Given the description of an element on the screen output the (x, y) to click on. 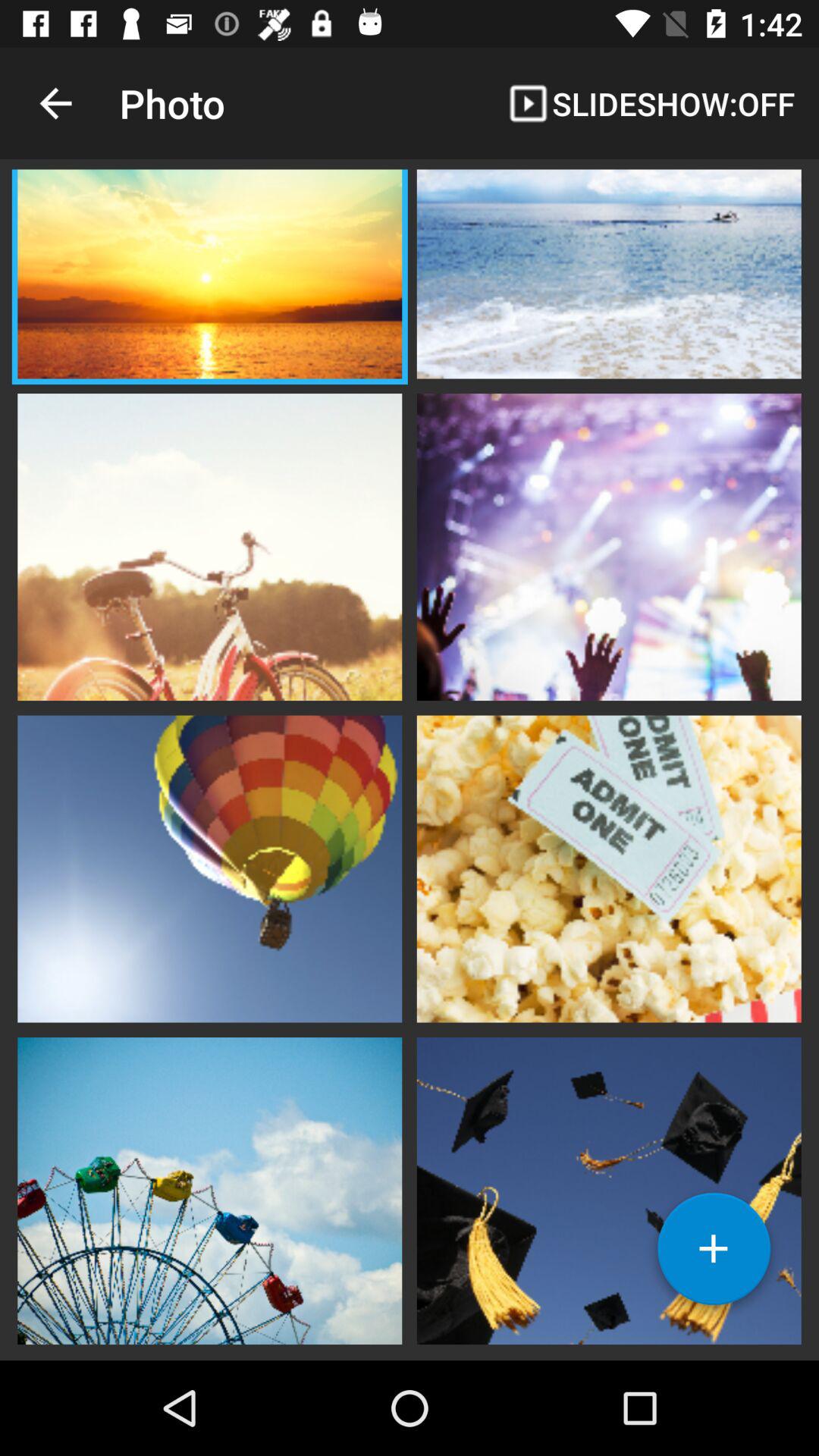
select photo (609, 275)
